Given the description of an element on the screen output the (x, y) to click on. 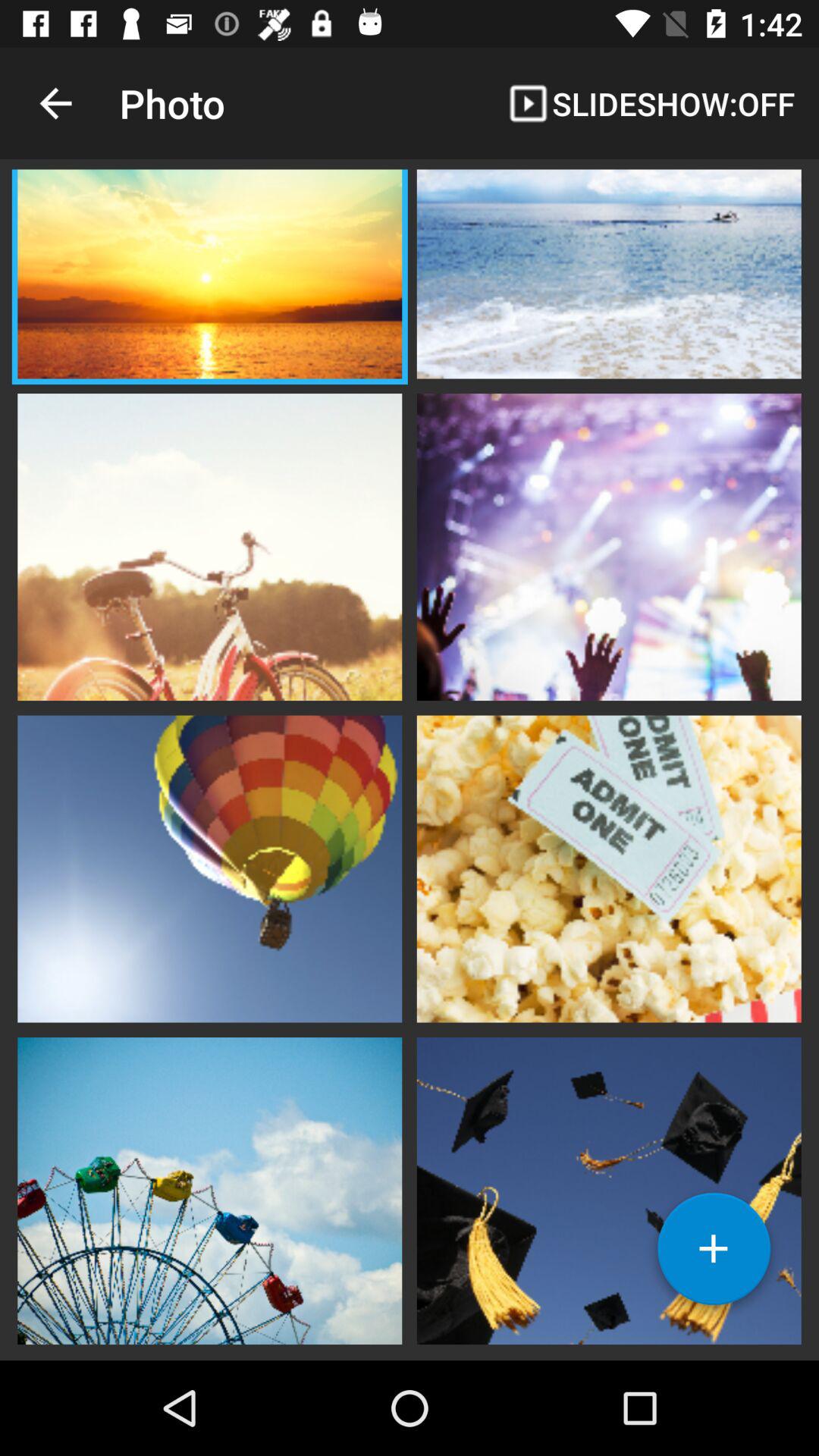
select photo (609, 275)
